Given the description of an element on the screen output the (x, y) to click on. 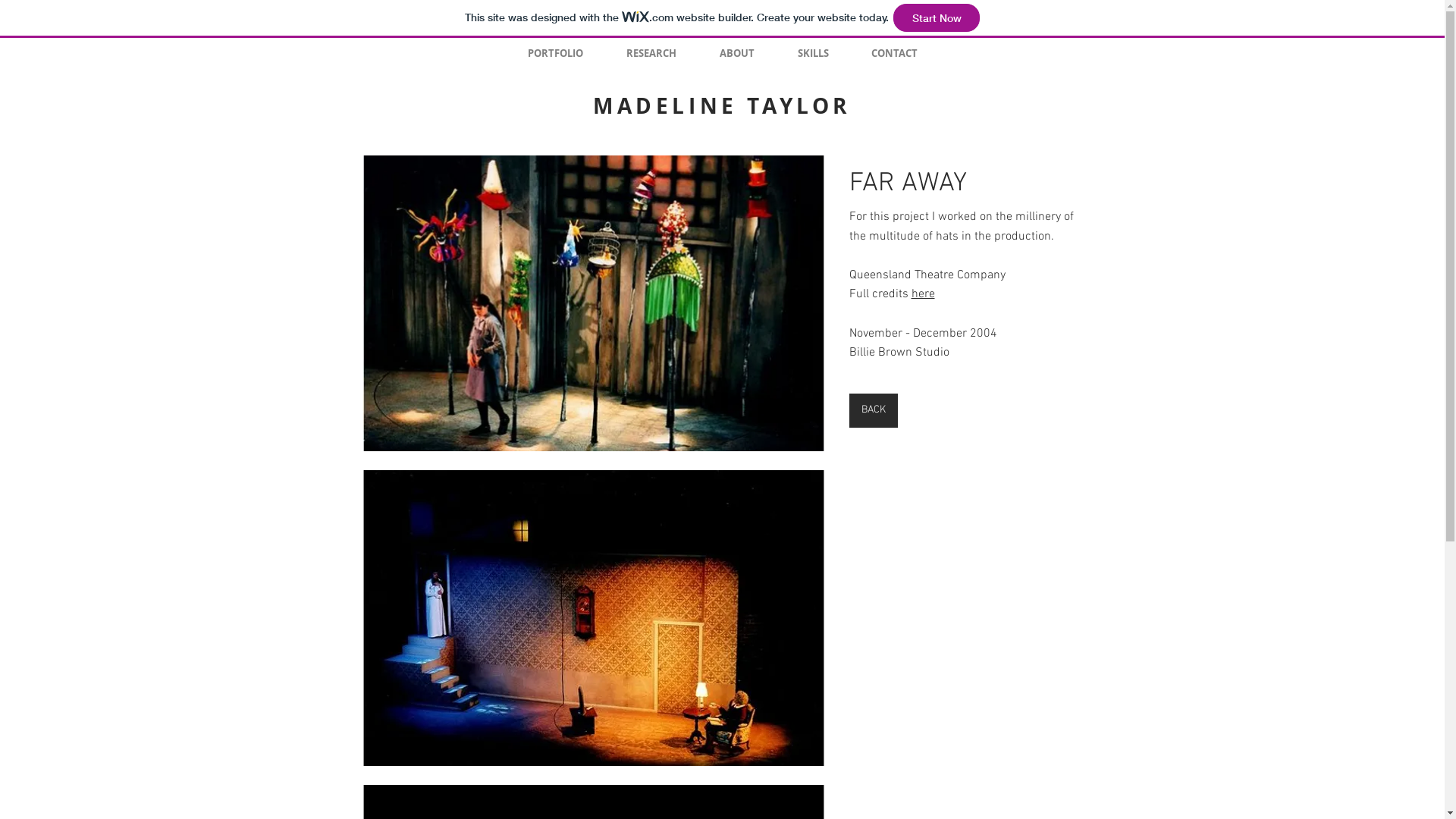
MADELINE TAYLOR Element type: text (721, 105)
PORTFOLIO Element type: text (555, 53)
ABOUT Element type: text (736, 53)
CONTACT Element type: text (893, 53)
RESEARCH Element type: text (651, 53)
here Element type: text (923, 293)
BACK Element type: text (873, 410)
SKILLS Element type: text (813, 53)
